Given the description of an element on the screen output the (x, y) to click on. 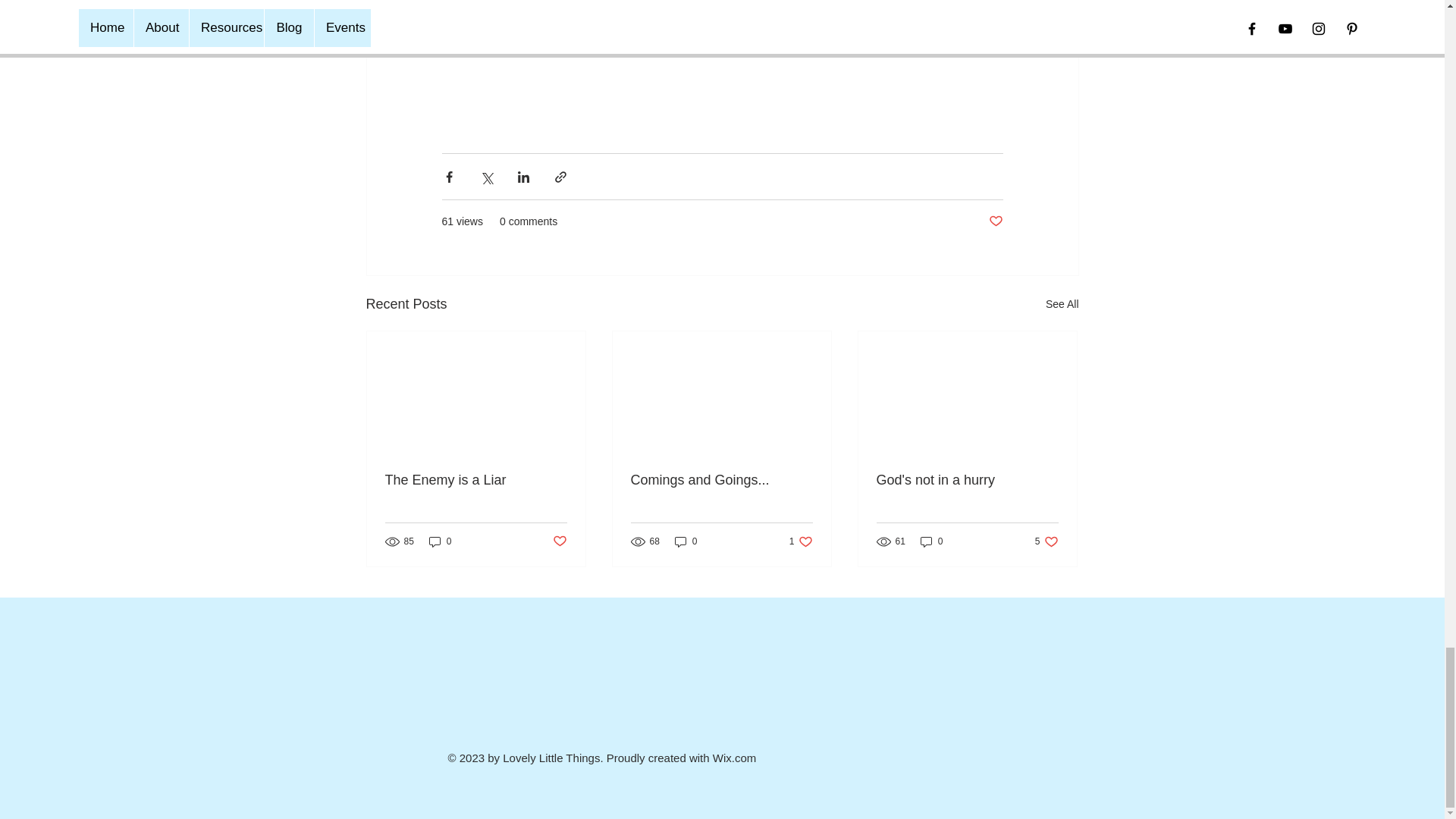
Post not marked as liked (558, 541)
Wix.com (735, 757)
Post not marked as liked (995, 221)
The Enemy is a Liar (476, 480)
0 (685, 541)
God's not in a hurry (967, 480)
0 (440, 541)
0 (931, 541)
Comings and Goings... (721, 480)
See All (1061, 304)
